Given the description of an element on the screen output the (x, y) to click on. 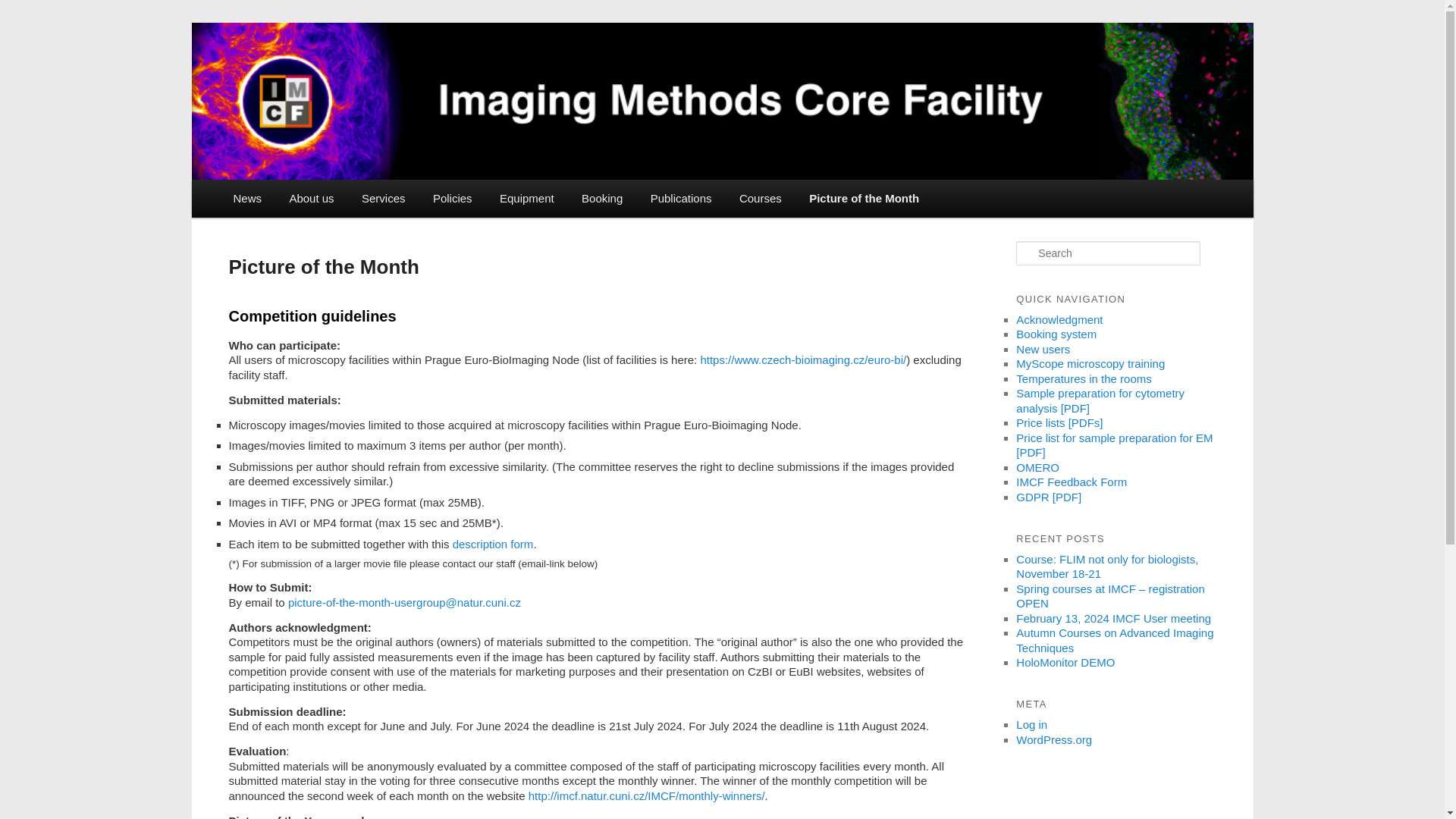
Booking (602, 198)
Courses (759, 198)
Acknowledgment (1059, 318)
Services (383, 198)
Picture of the Month (863, 198)
Equipment (526, 198)
Policies (452, 198)
Imaging Methods Core Facility (437, 77)
